Given the description of an element on the screen output the (x, y) to click on. 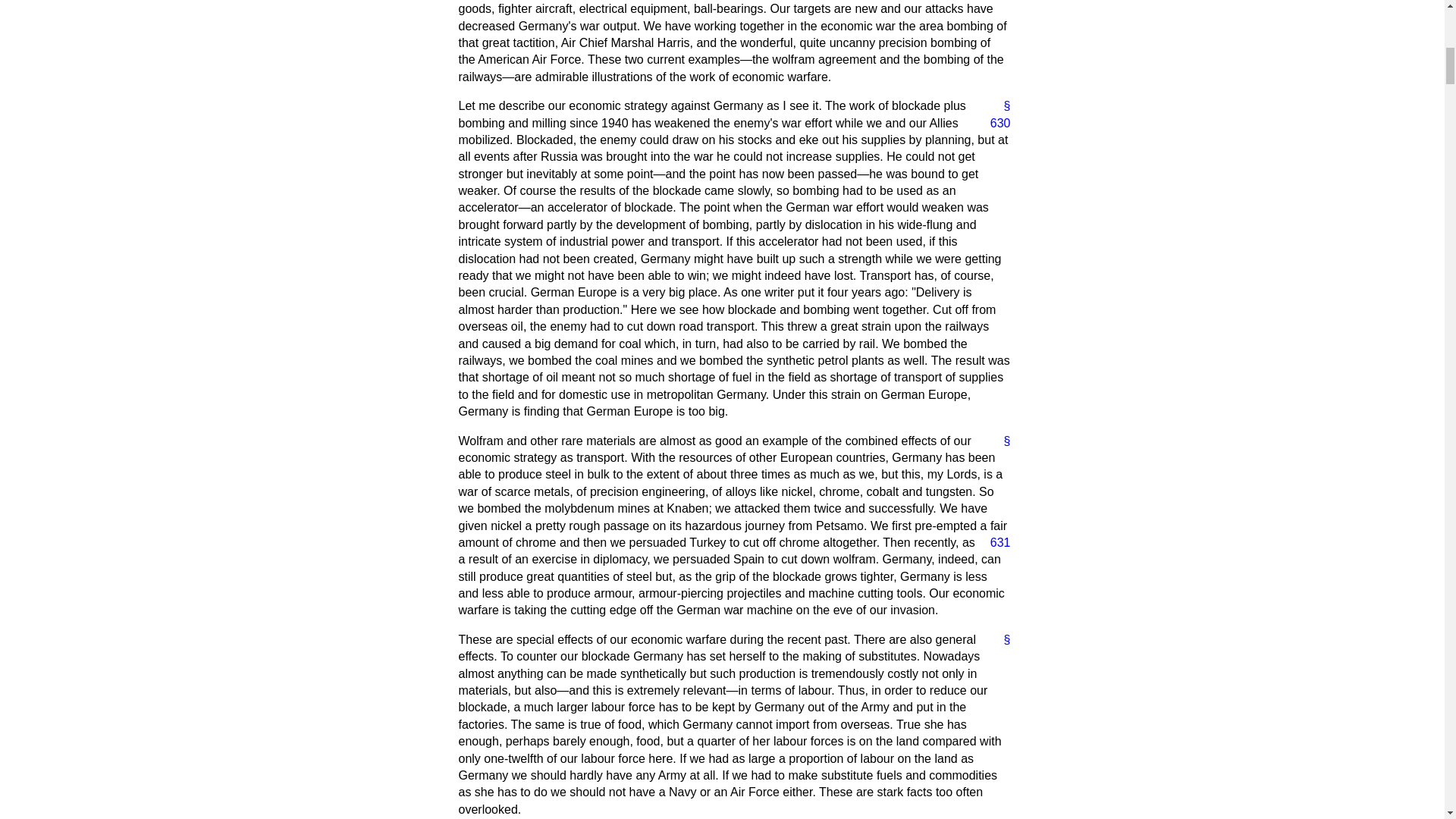
630 (994, 123)
Link to this contribution (1000, 639)
Link to this contribution (1000, 441)
631 (994, 542)
Link to this contribution (1000, 105)
